Given the description of an element on the screen output the (x, y) to click on. 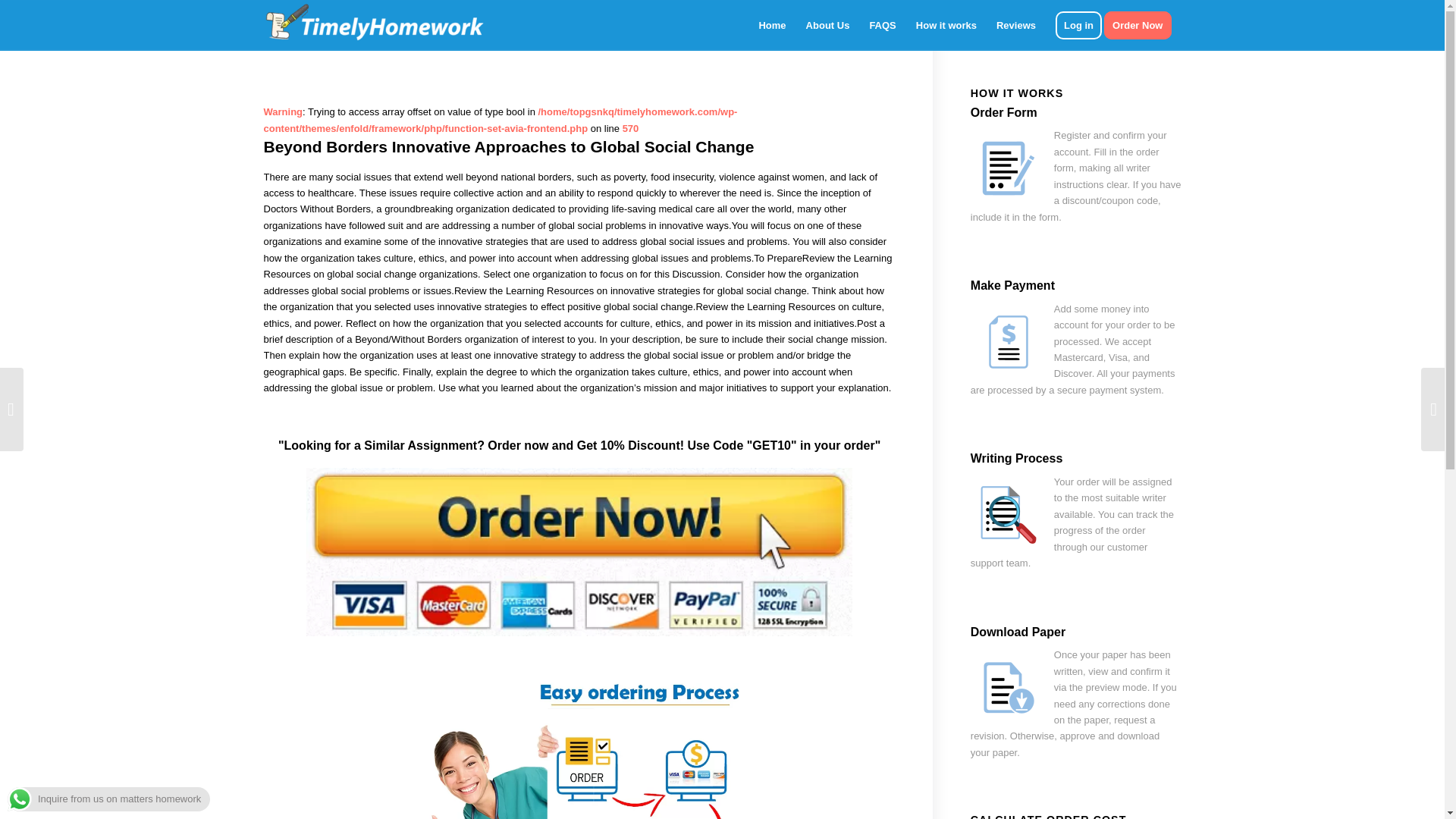
Reviews (1016, 24)
Order Now (1141, 24)
Beyond Borders Innovative Approaches to Global Social Change (508, 146)
Log in (1078, 24)
FAQS (882, 24)
Home (771, 24)
About Us (828, 24)
How it works (946, 24)
